Given the description of an element on the screen output the (x, y) to click on. 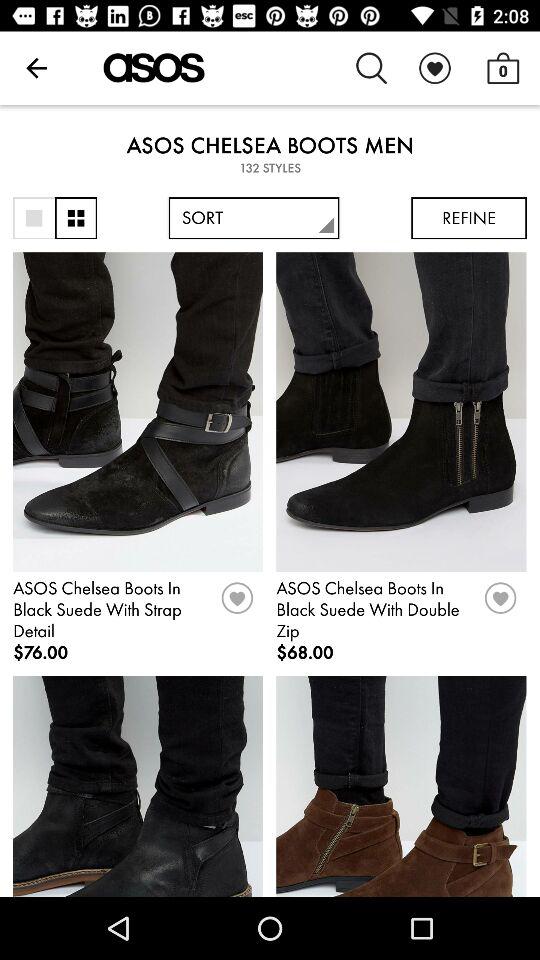
add on favorites (237, 605)
